Given the description of an element on the screen output the (x, y) to click on. 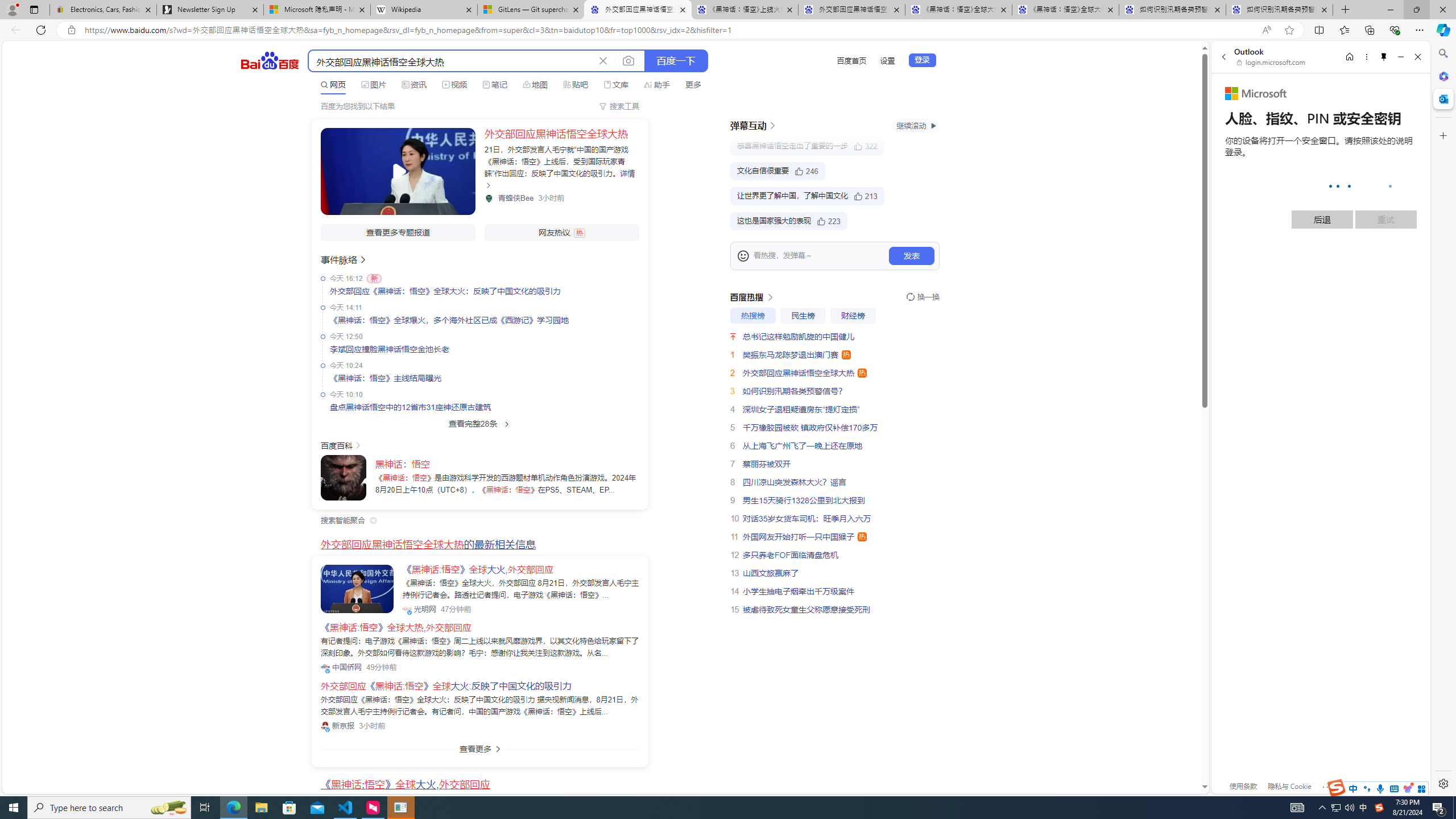
Microsoft (1255, 93)
Newsletter Sign Up (209, 9)
